Given the description of an element on the screen output the (x, y) to click on. 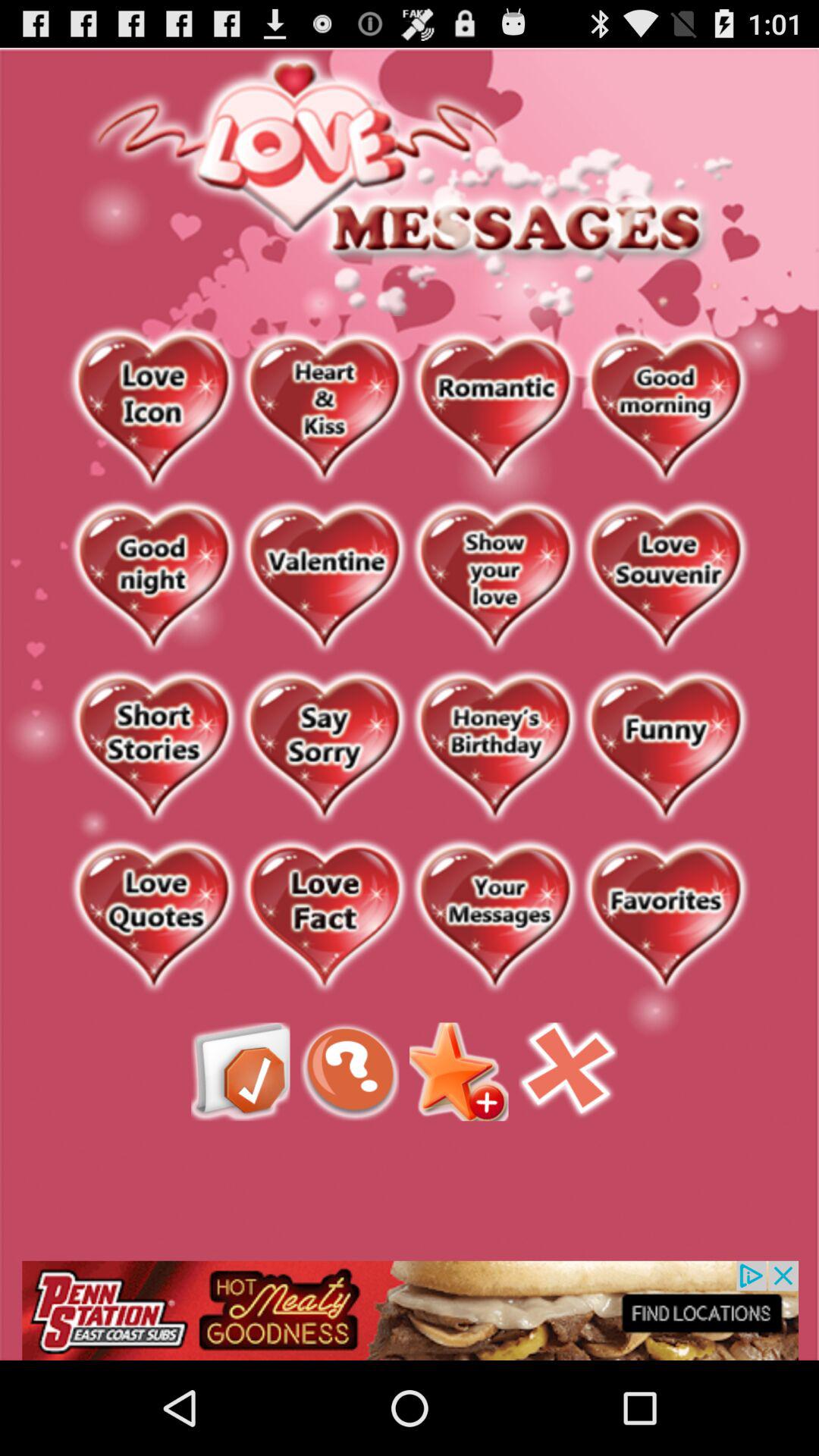
correct (240, 1071)
